Given the description of an element on the screen output the (x, y) to click on. 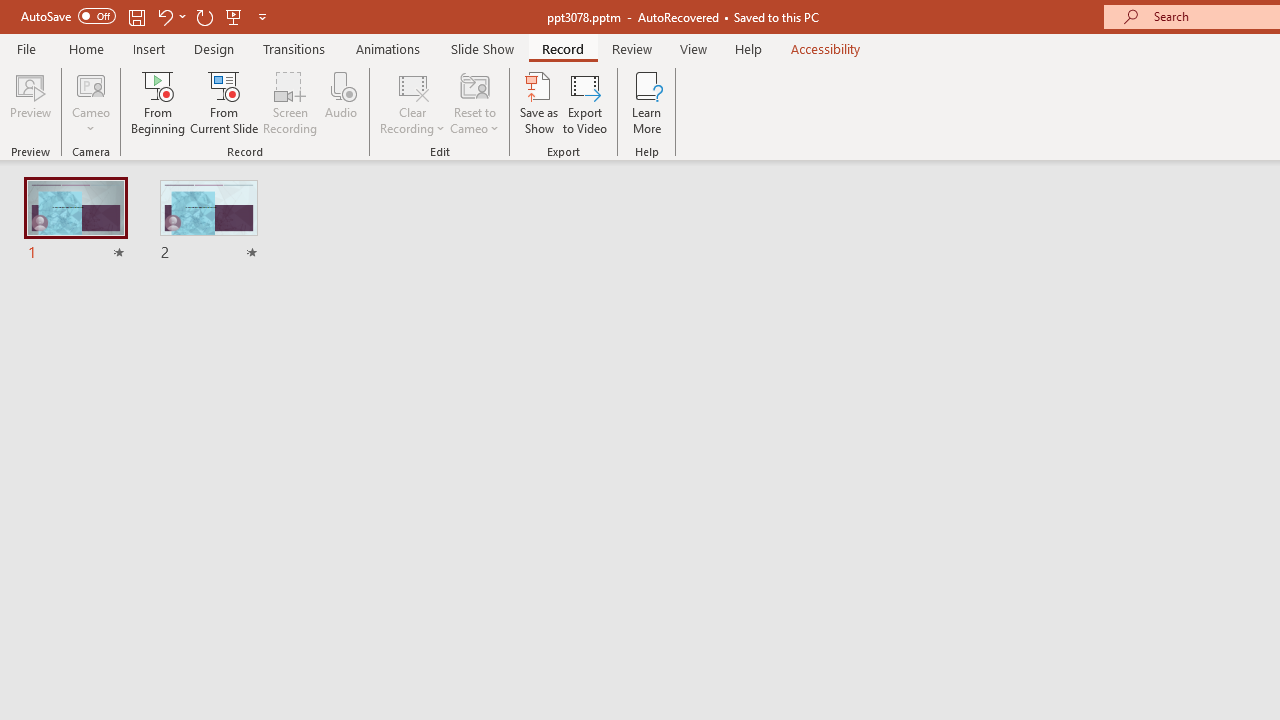
Screen Recording (290, 102)
Export to Video (585, 102)
From Beginning... (158, 102)
